Given the description of an element on the screen output the (x, y) to click on. 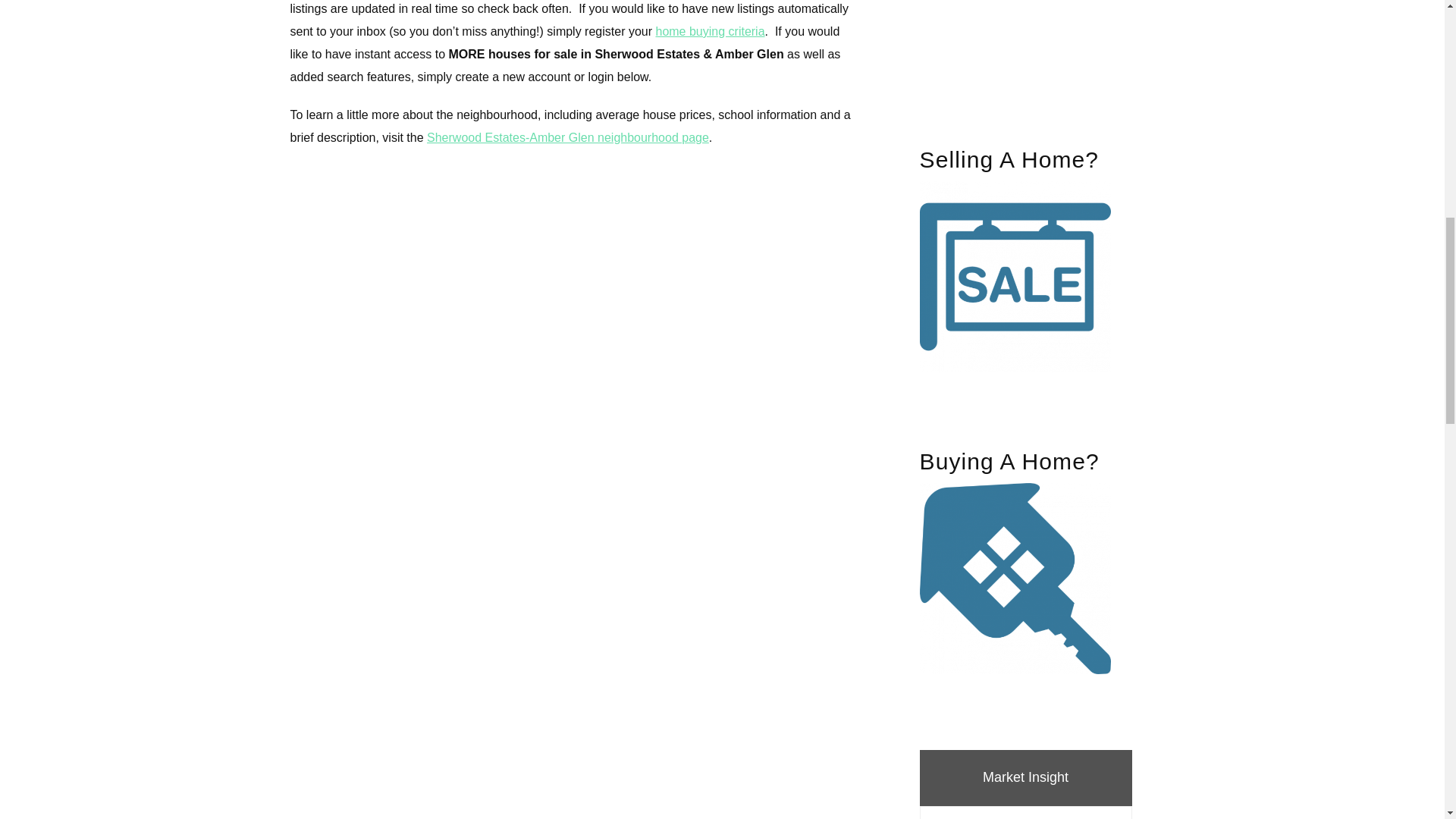
Selling A Home? (1025, 258)
Buying A Home? (1025, 560)
Schedule A FREE HOME EVALUATION Now! (1025, 46)
